Given the description of an element on the screen output the (x, y) to click on. 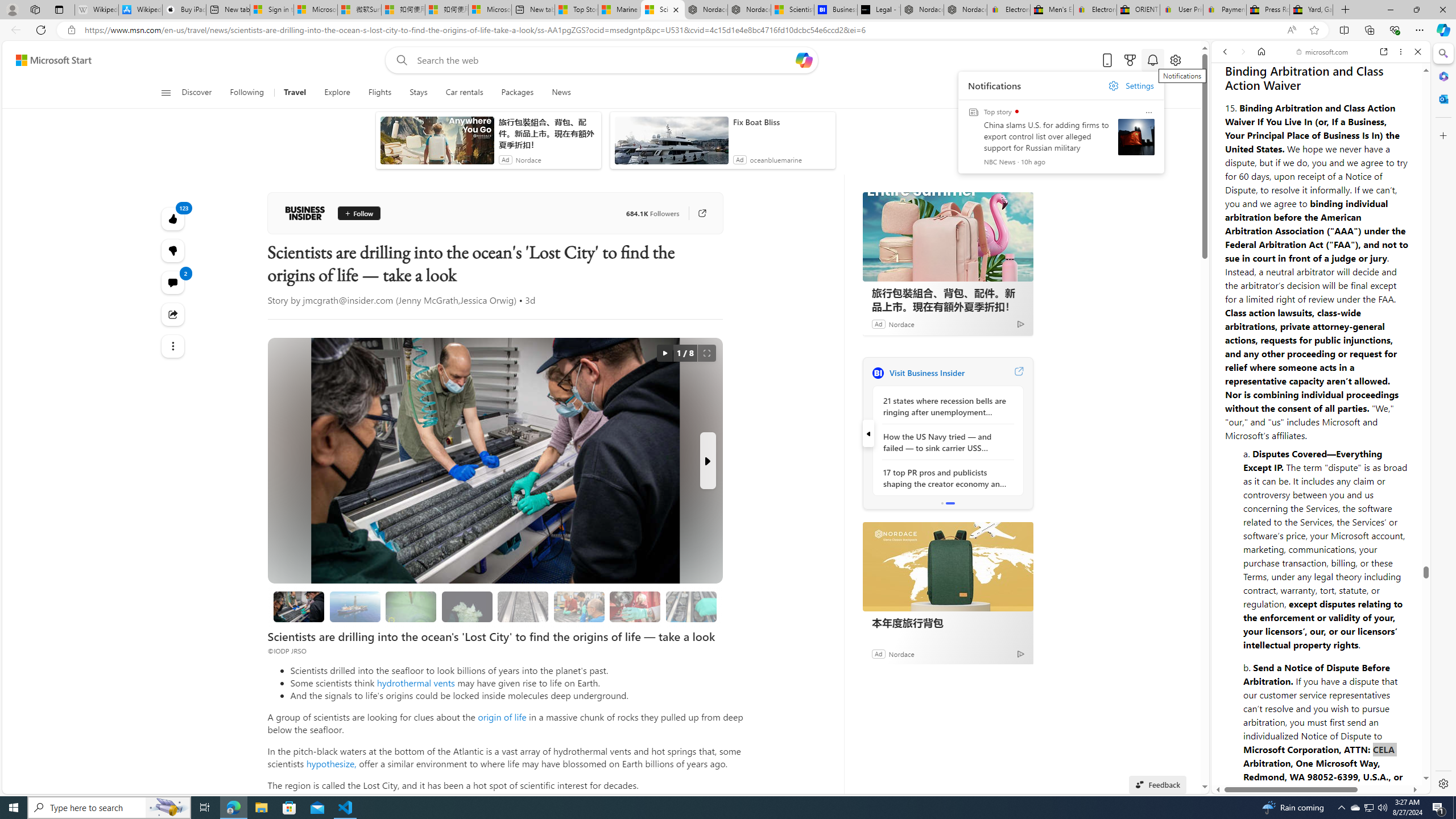
Explore (336, 92)
Marine life - MSN (619, 9)
previous (867, 433)
Fix Boat Bliss (781, 121)
Settings (1442, 783)
Card Action (1148, 112)
New Tab (1346, 9)
Personal Profile (12, 9)
Refresh (40, 29)
Go to publisher's site (701, 213)
